Given the description of an element on the screen output the (x, y) to click on. 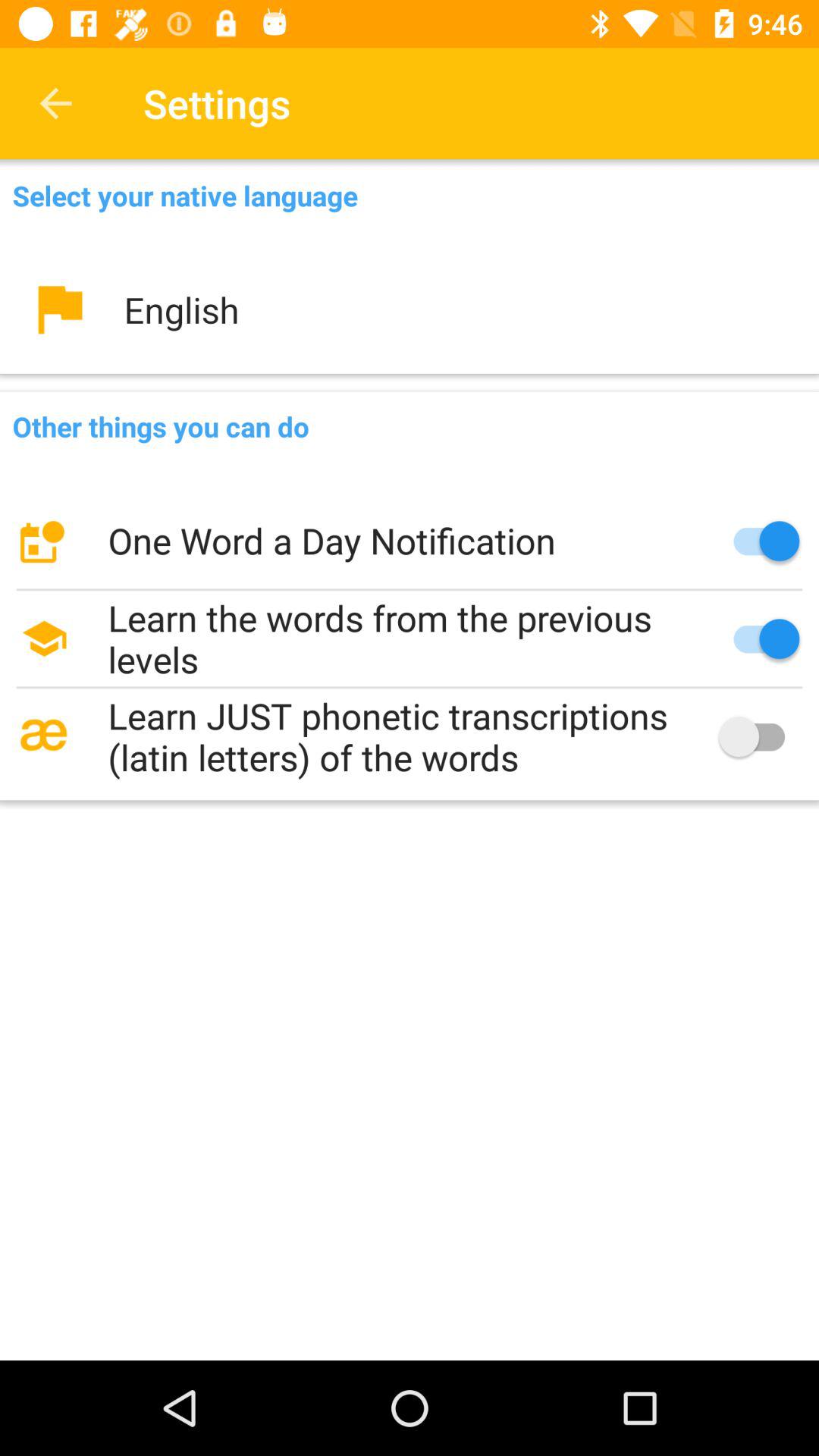
flip to one word a (409, 540)
